Given the description of an element on the screen output the (x, y) to click on. 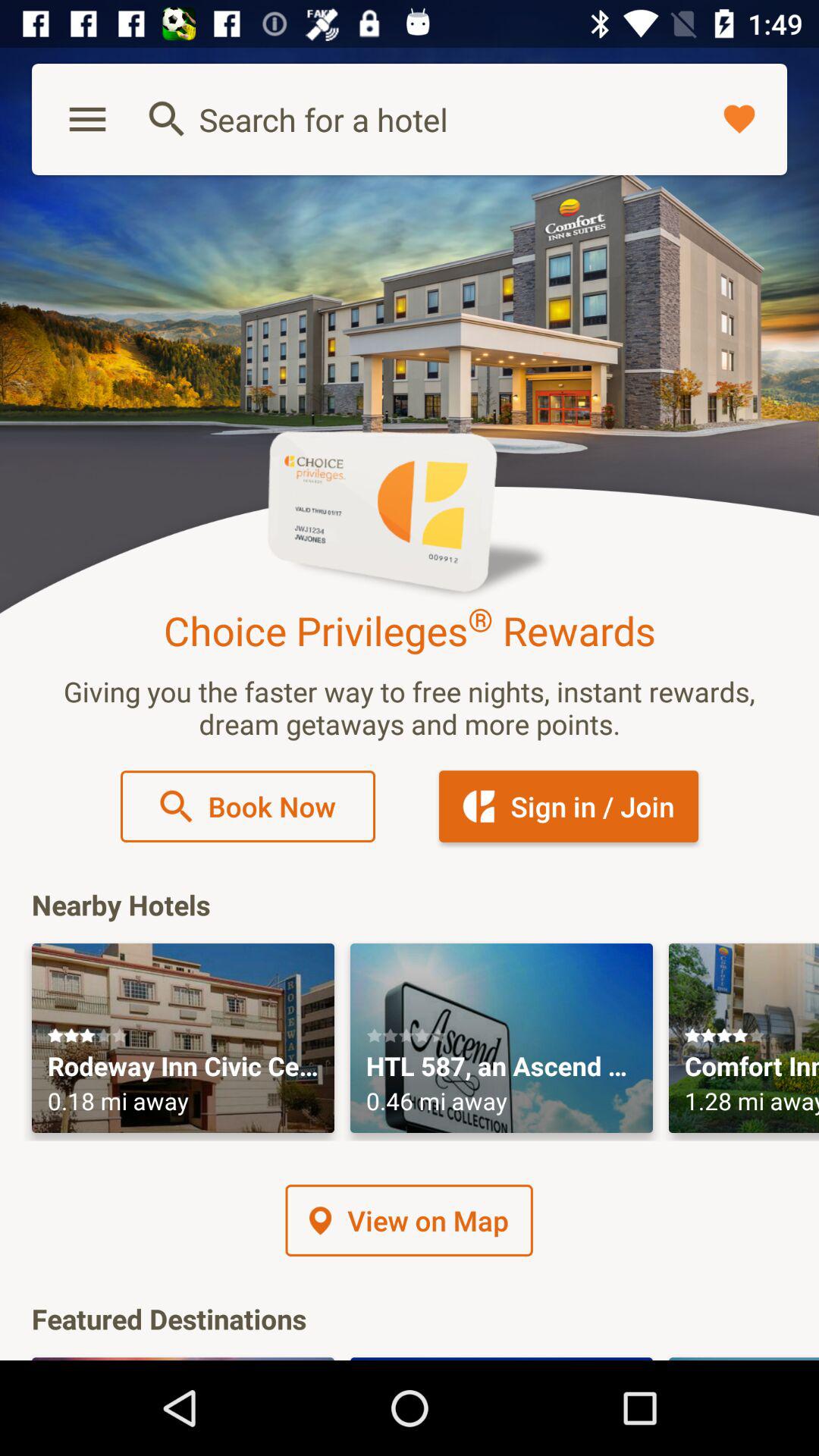
check location (501, 1037)
